Given the description of an element on the screen output the (x, y) to click on. 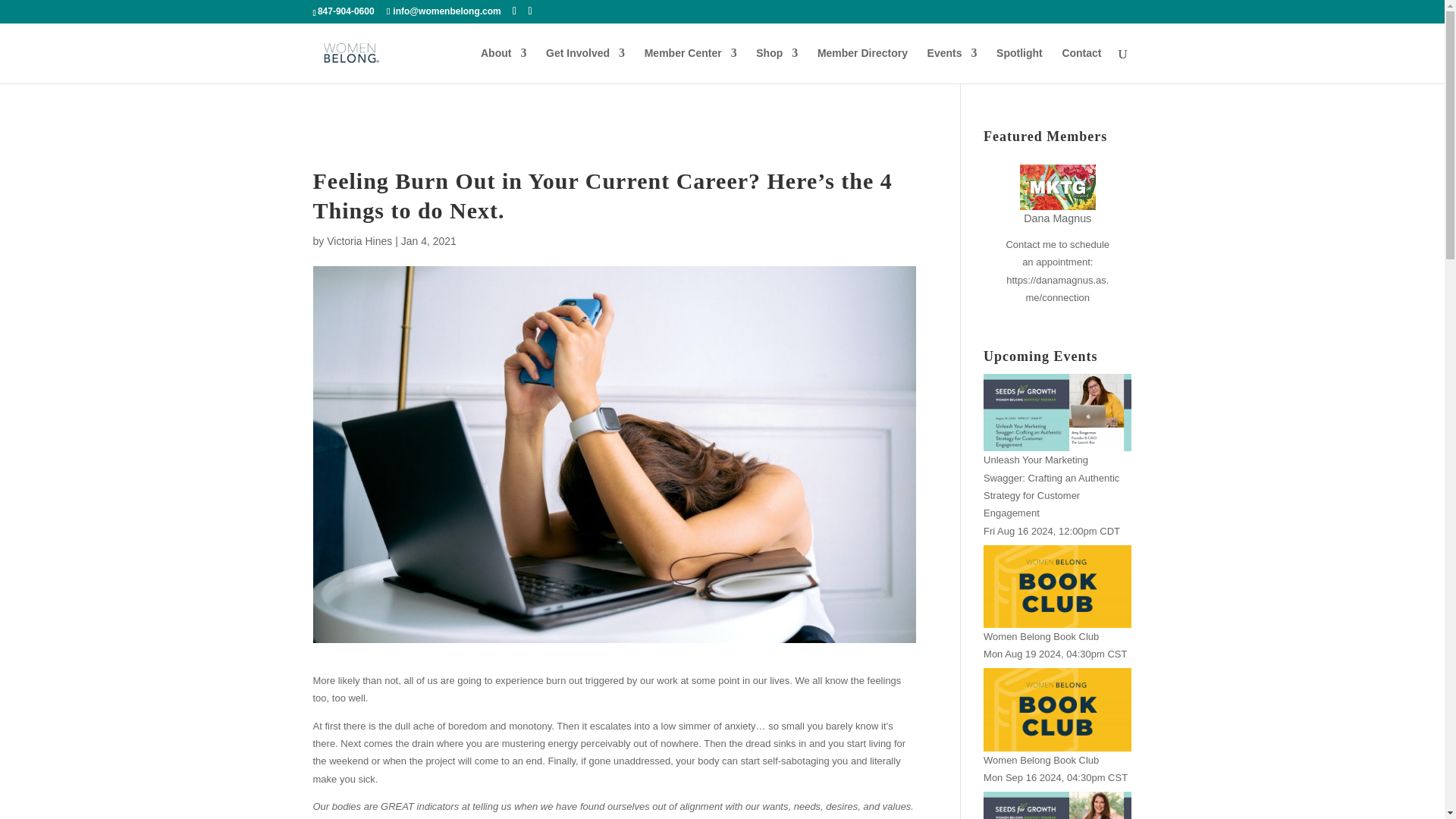
About (502, 65)
Posts by Victoria Hines (358, 241)
Member Center (690, 65)
Contact (1080, 65)
Shop (776, 65)
Spotlight (1018, 65)
Events (951, 65)
Member Directory (861, 65)
Get Involved (585, 65)
Victoria Hines (358, 241)
